Given the description of an element on the screen output the (x, y) to click on. 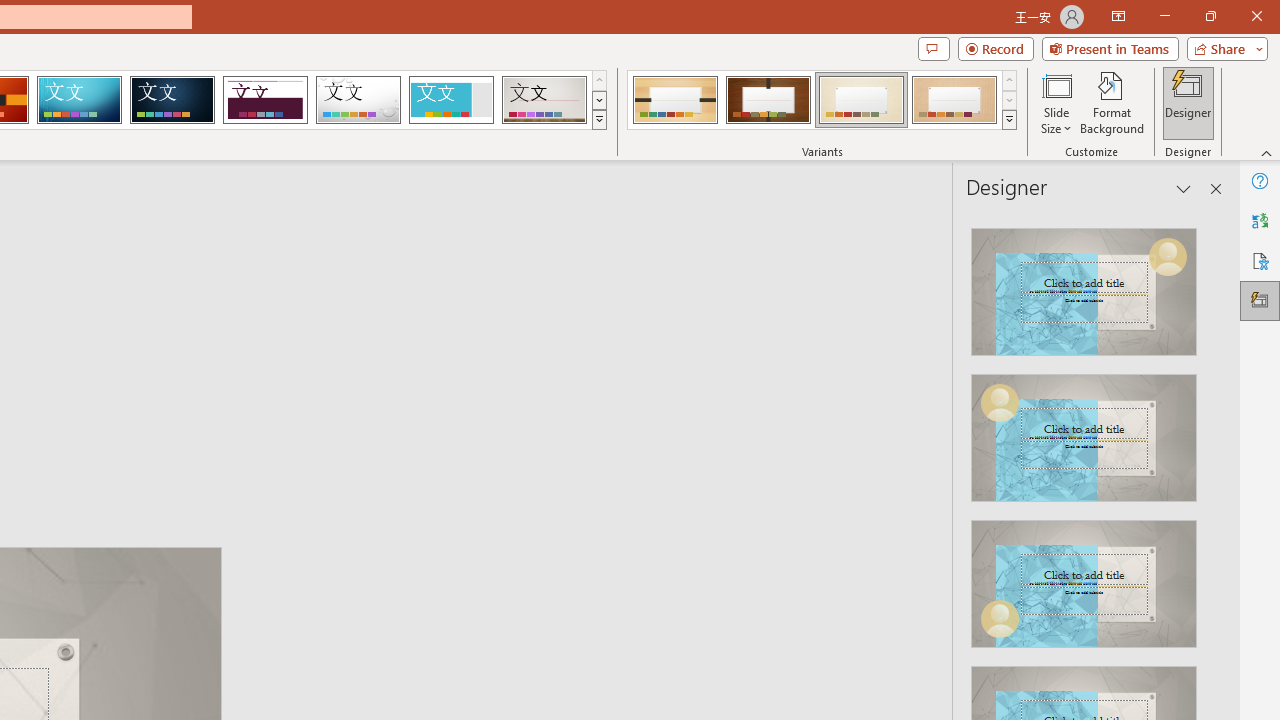
Organic Variant 3 (861, 100)
Dividend (265, 100)
Damask (171, 100)
Format Background (1111, 102)
Circuit (79, 100)
Themes (598, 120)
